Given the description of an element on the screen output the (x, y) to click on. 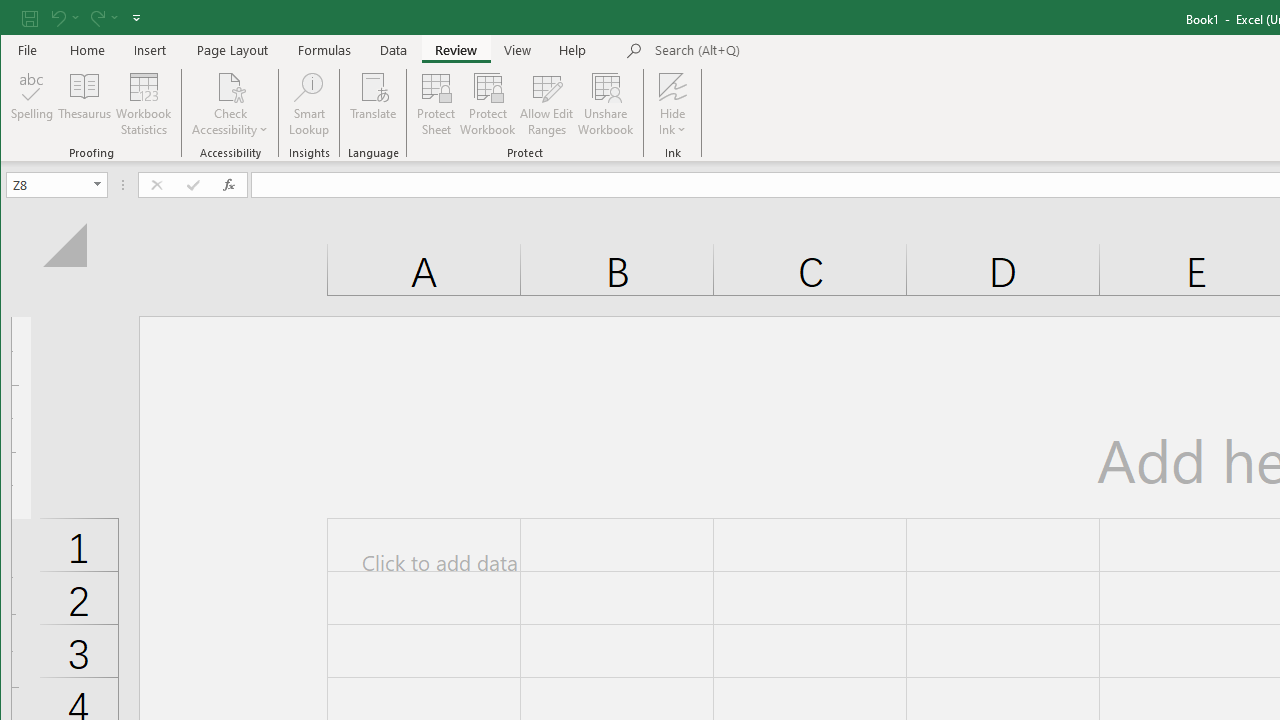
Translate (373, 104)
Thesaurus... (84, 104)
